Given the description of an element on the screen output the (x, y) to click on. 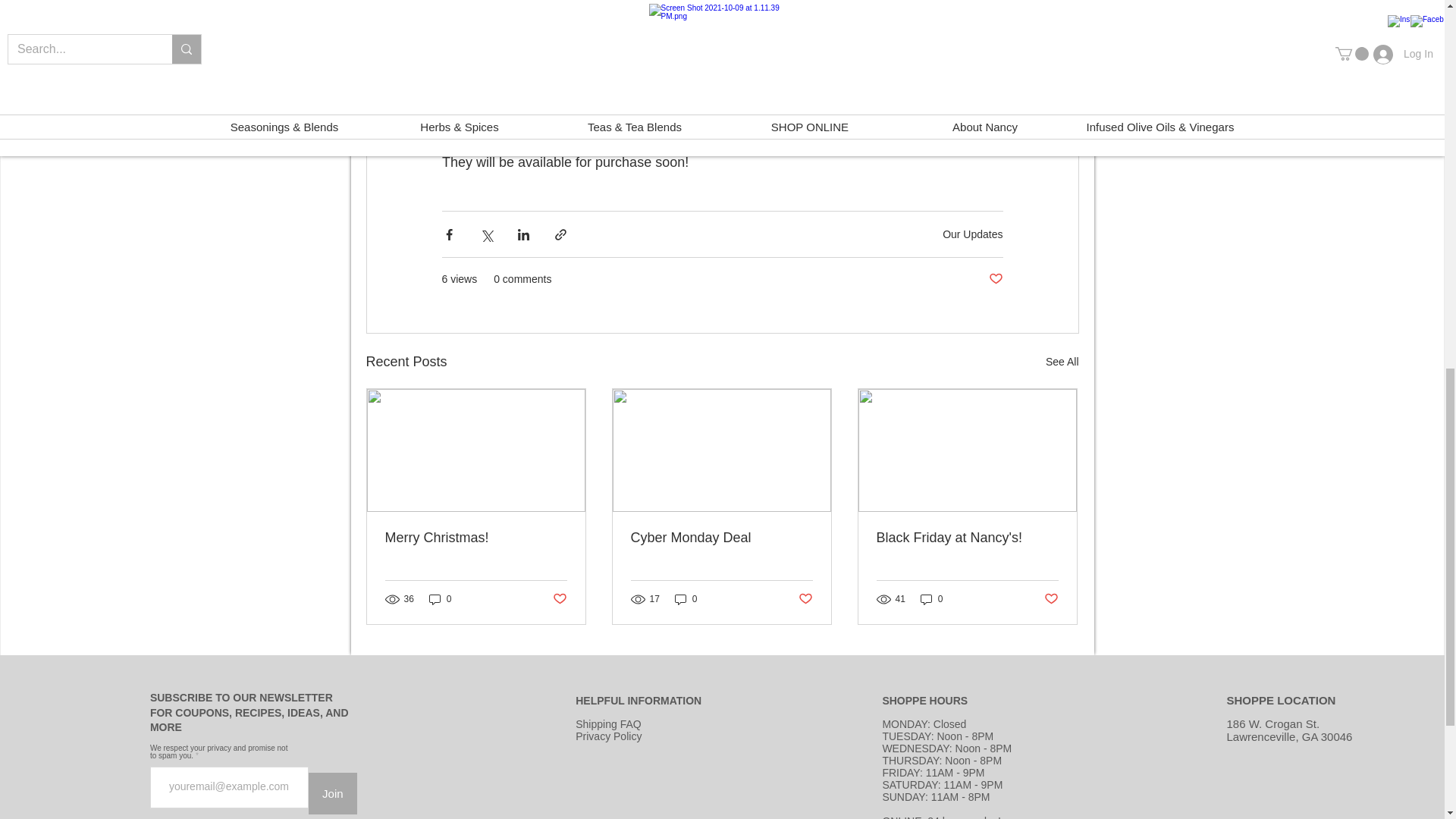
Post not marked as liked (558, 599)
Our Updates (972, 233)
See All (1061, 362)
Post not marked as liked (804, 599)
0 (685, 598)
Black Friday at Nancy's! (967, 537)
Merry Christmas! (476, 537)
0 (440, 598)
Cyber Monday Deal (721, 537)
Post not marked as liked (995, 279)
